Given the description of an element on the screen output the (x, y) to click on. 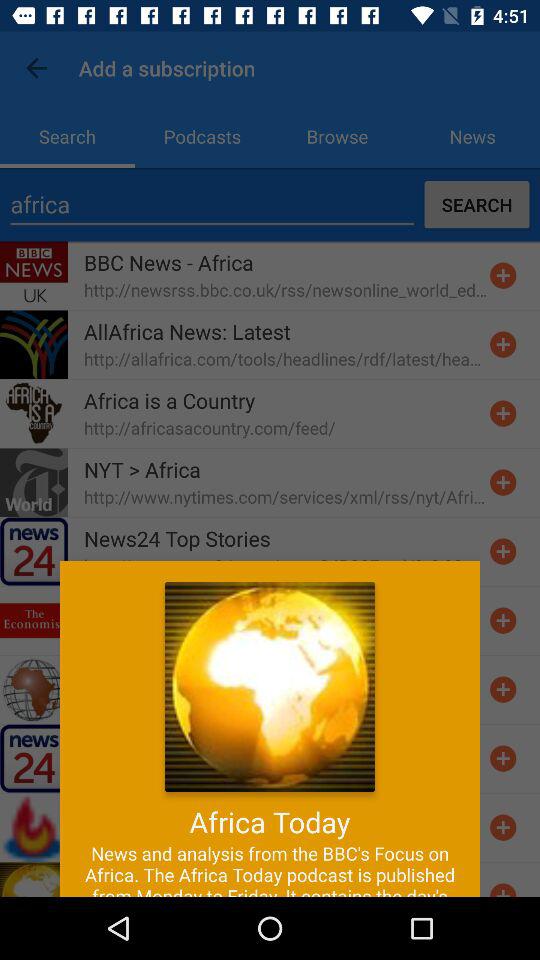
click the item at the center (270, 463)
